Given the description of an element on the screen output the (x, y) to click on. 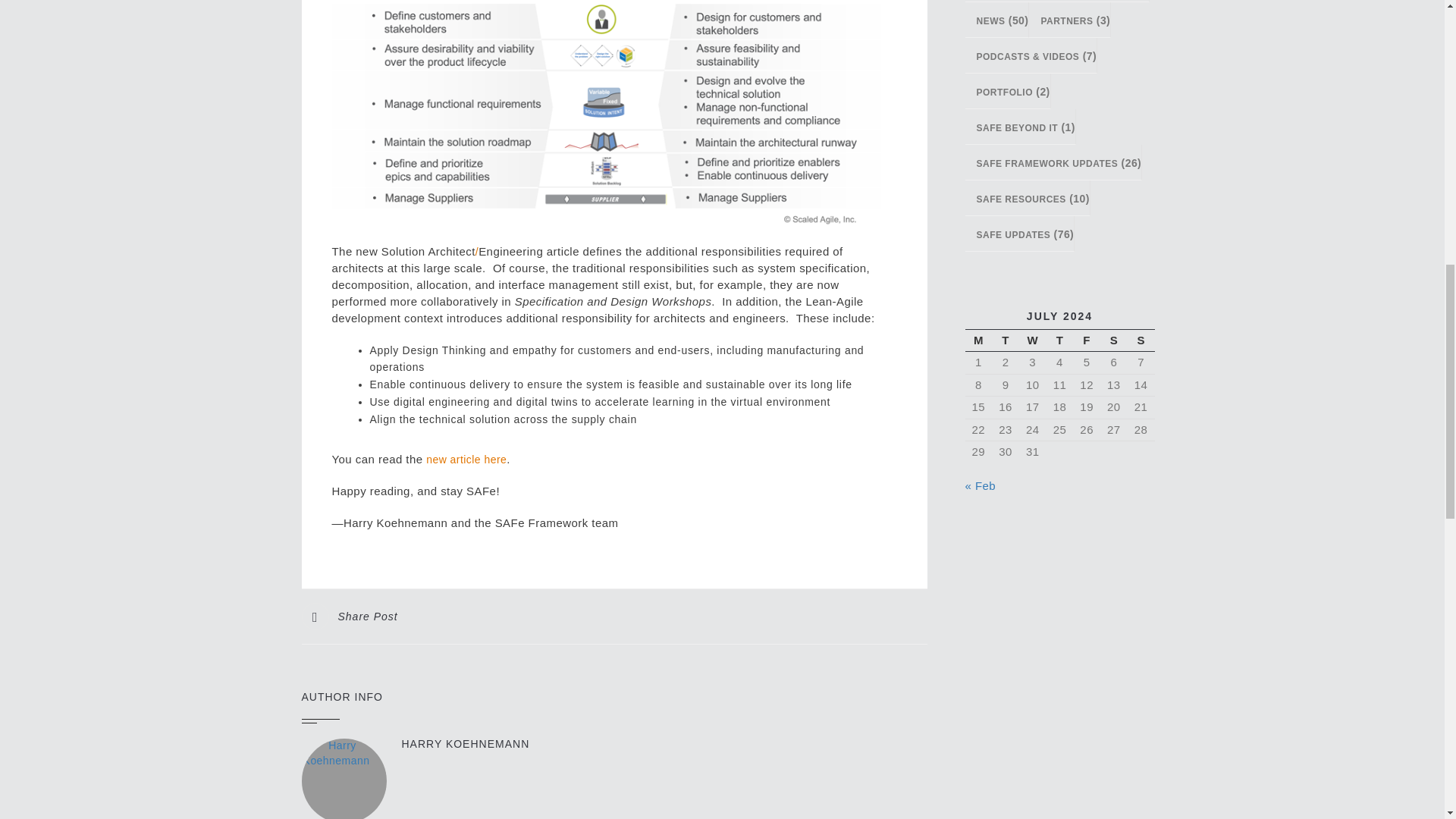
Tuesday (1005, 341)
Monday (977, 341)
Friday (1086, 341)
Saturday (1113, 341)
Wednesday (1032, 341)
Thursday (1060, 341)
Sunday (1140, 341)
